Given the description of an element on the screen output the (x, y) to click on. 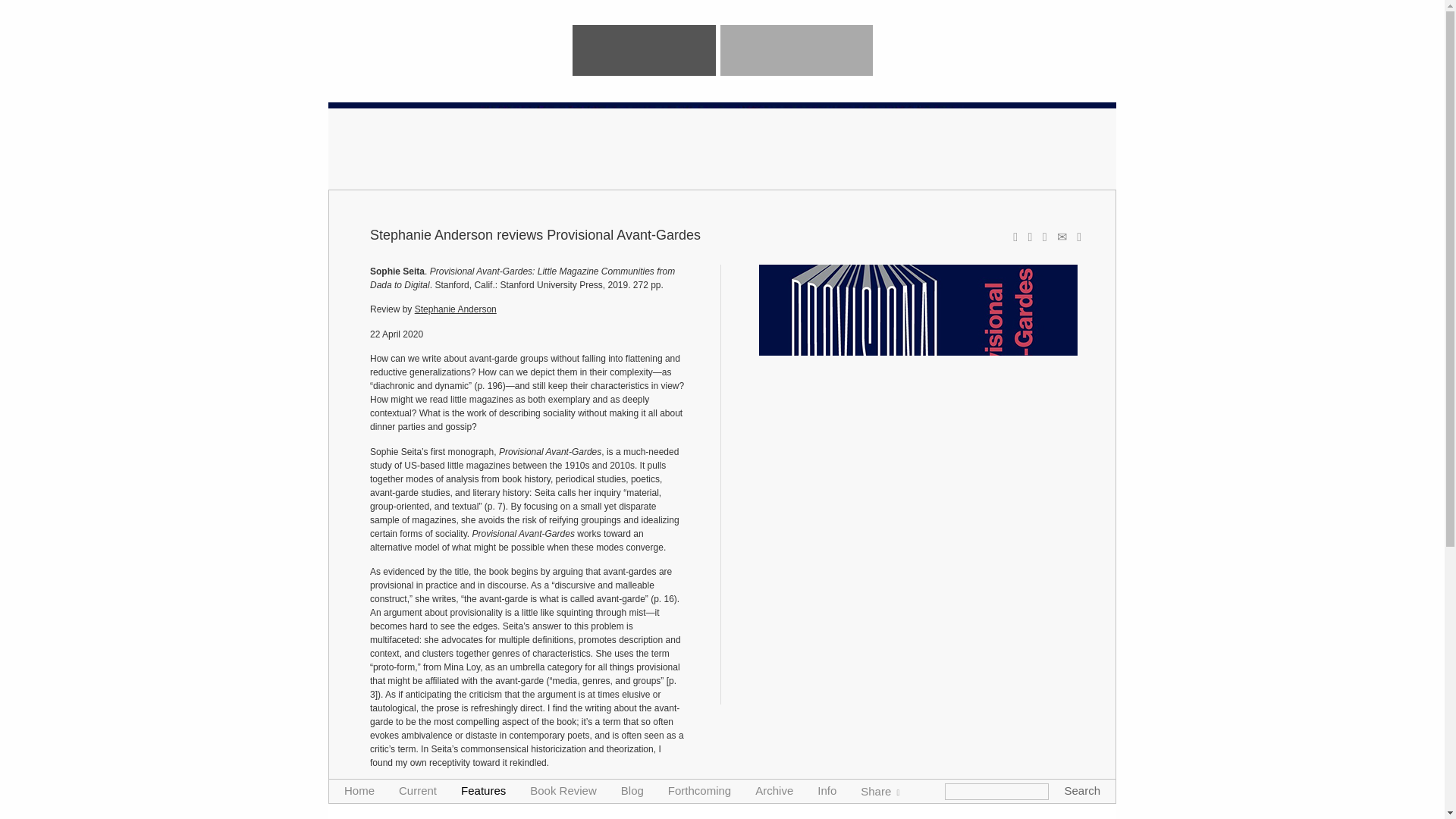
Features (483, 789)
Book Review (562, 789)
Info (825, 789)
Home (358, 789)
Search (1082, 789)
Archive (774, 789)
Forthcoming (699, 789)
Current (417, 789)
Blog (632, 789)
Search (1082, 789)
Stephanie Anderson (455, 308)
Share (879, 790)
